Given the description of an element on the screen output the (x, y) to click on. 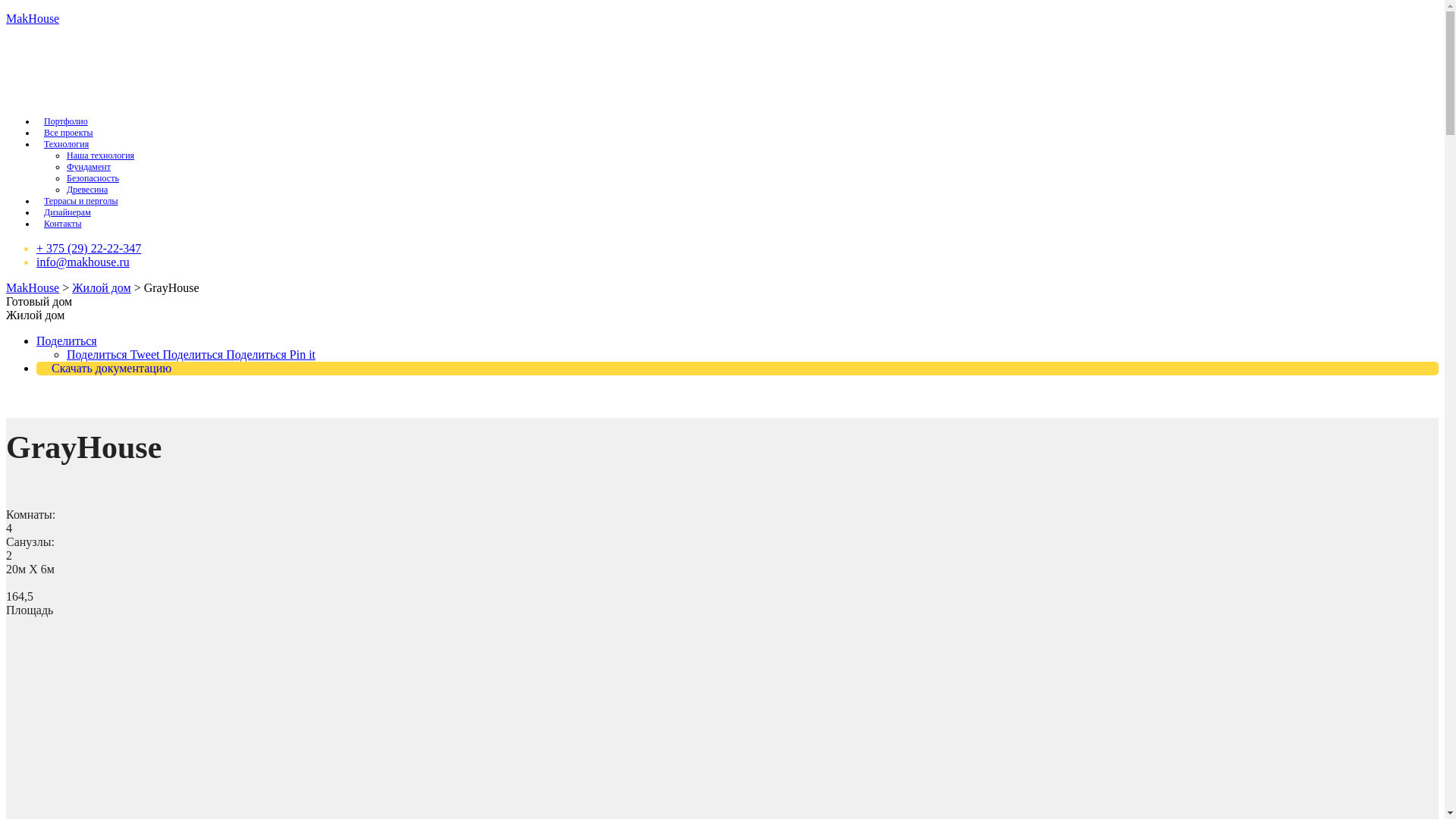
info@makhouse.ru Element type: text (82, 261)
+ 375 (29) 22-22-347 Element type: text (88, 247)
MakHouse Element type: text (32, 18)
MakHouse Element type: text (32, 287)
Pin it Element type: text (302, 354)
Tweet Element type: text (146, 354)
